Given the description of an element on the screen output the (x, y) to click on. 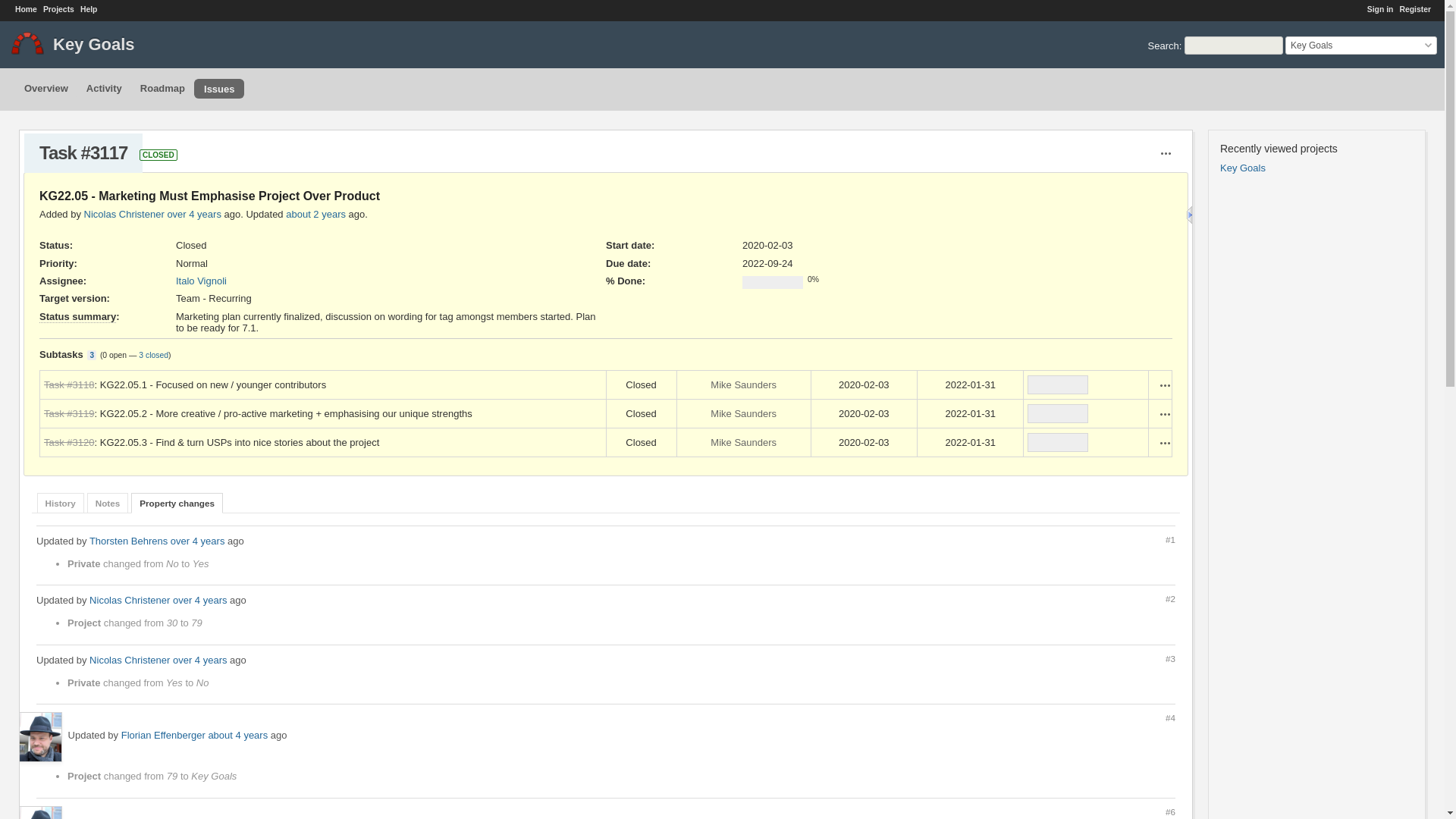
about 2 years (315, 214)
Projects (58, 8)
2020-06-18 09:16 (237, 736)
Roadmap (162, 87)
Actions (1165, 442)
2022-07-27 16:52 (315, 214)
2020-03-13 18:44 (194, 214)
Thorsten Behrens (127, 541)
Actions (1165, 413)
Property changes (176, 503)
Mike Saunders (743, 384)
Register (1415, 8)
Actions (1165, 385)
over 4 years (194, 214)
over 4 years (197, 541)
